Given the description of an element on the screen output the (x, y) to click on. 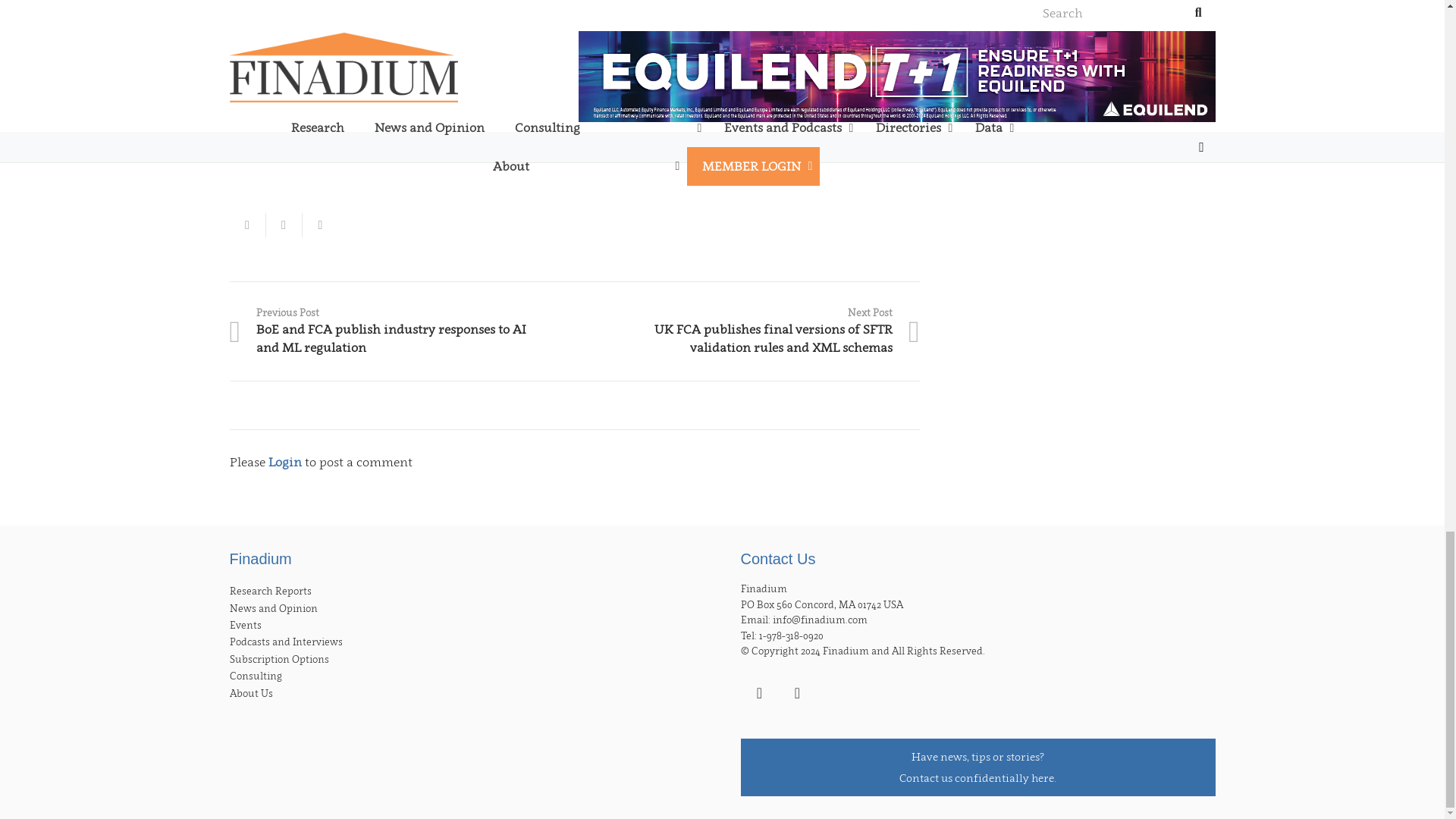
Share this (319, 224)
Email this (246, 224)
Share this (282, 224)
LinkedIn (758, 692)
RSS (796, 692)
